Given the description of an element on the screen output the (x, y) to click on. 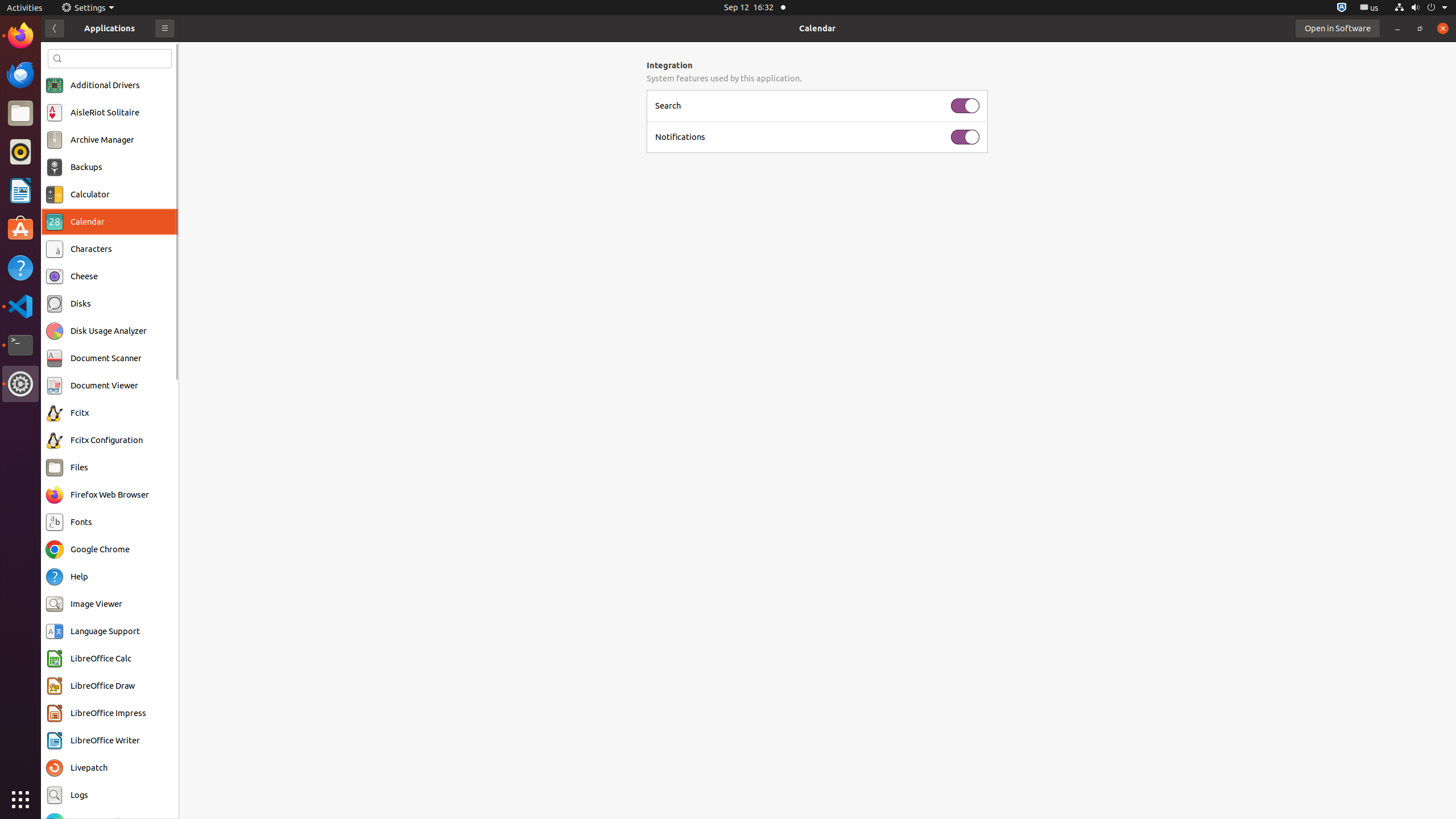
Document Viewer Element type: label (104, 385)
Integration Element type: label (816, 64)
Image Viewer Element type: label (96, 603)
Livepatch Element type: label (88, 767)
